Given the description of an element on the screen output the (x, y) to click on. 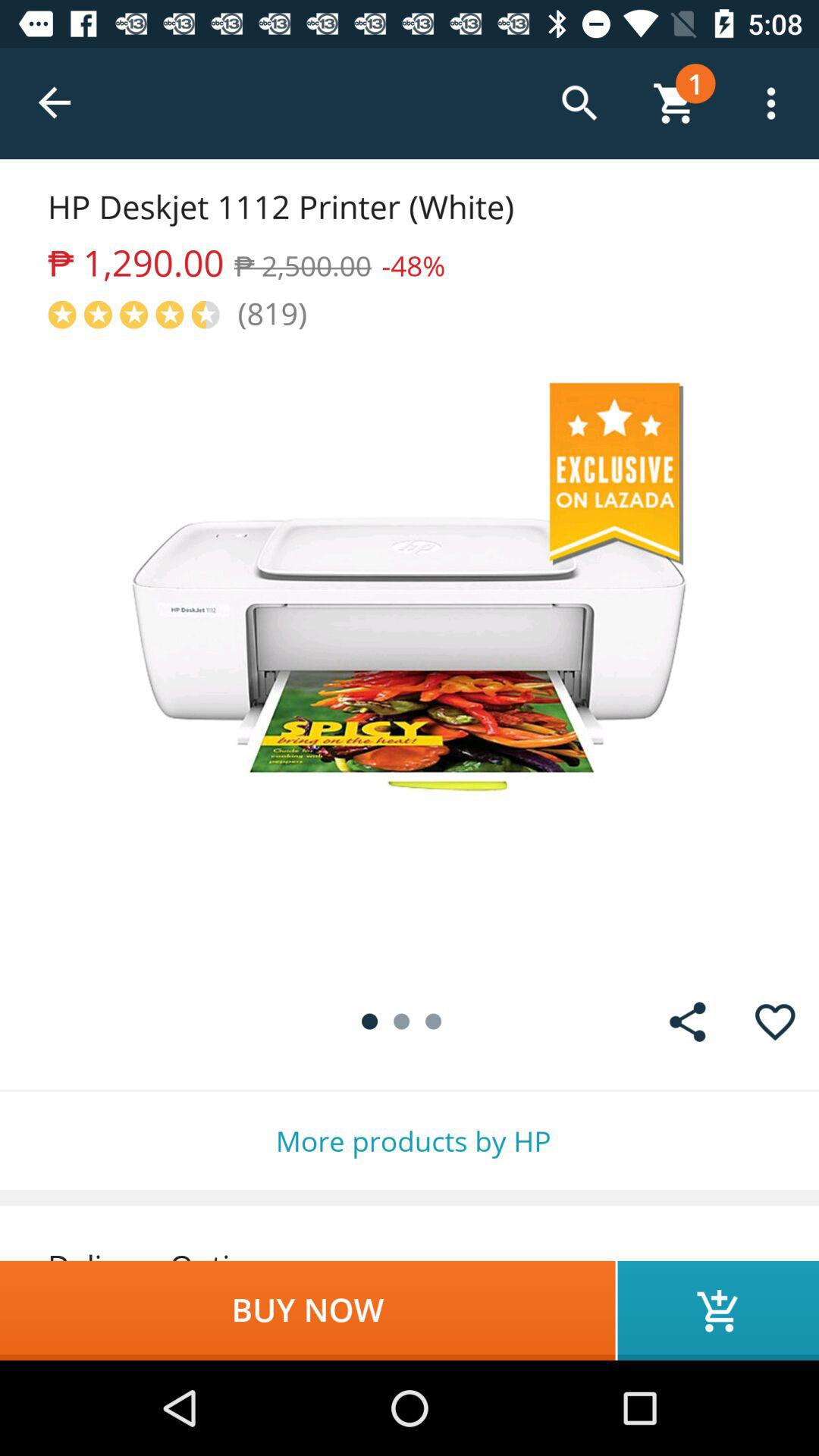
share page (687, 1021)
